Given the description of an element on the screen output the (x, y) to click on. 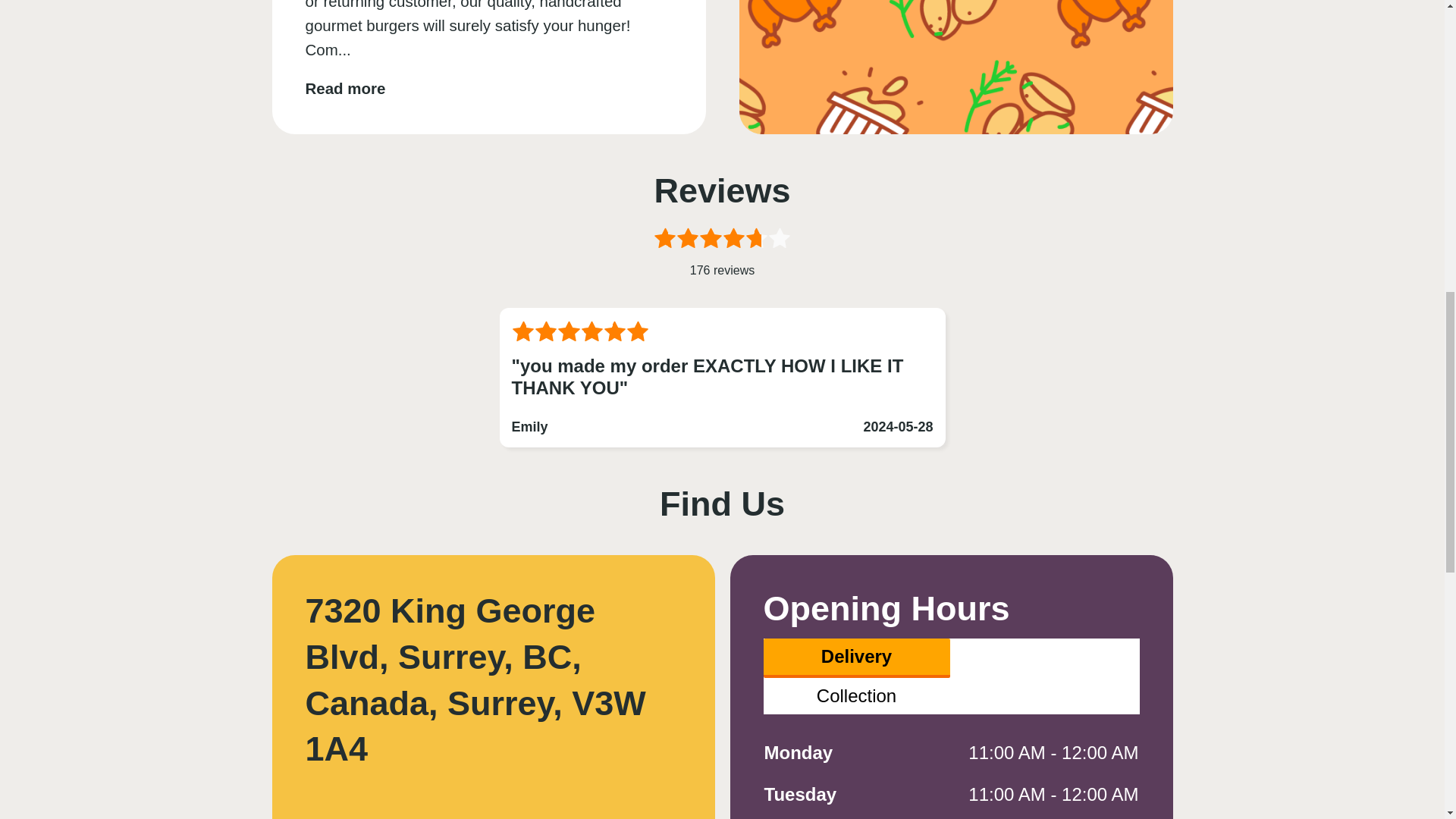
Map (492, 800)
Delivery (855, 658)
Read more (344, 88)
Collection (855, 696)
